Given the description of an element on the screen output the (x, y) to click on. 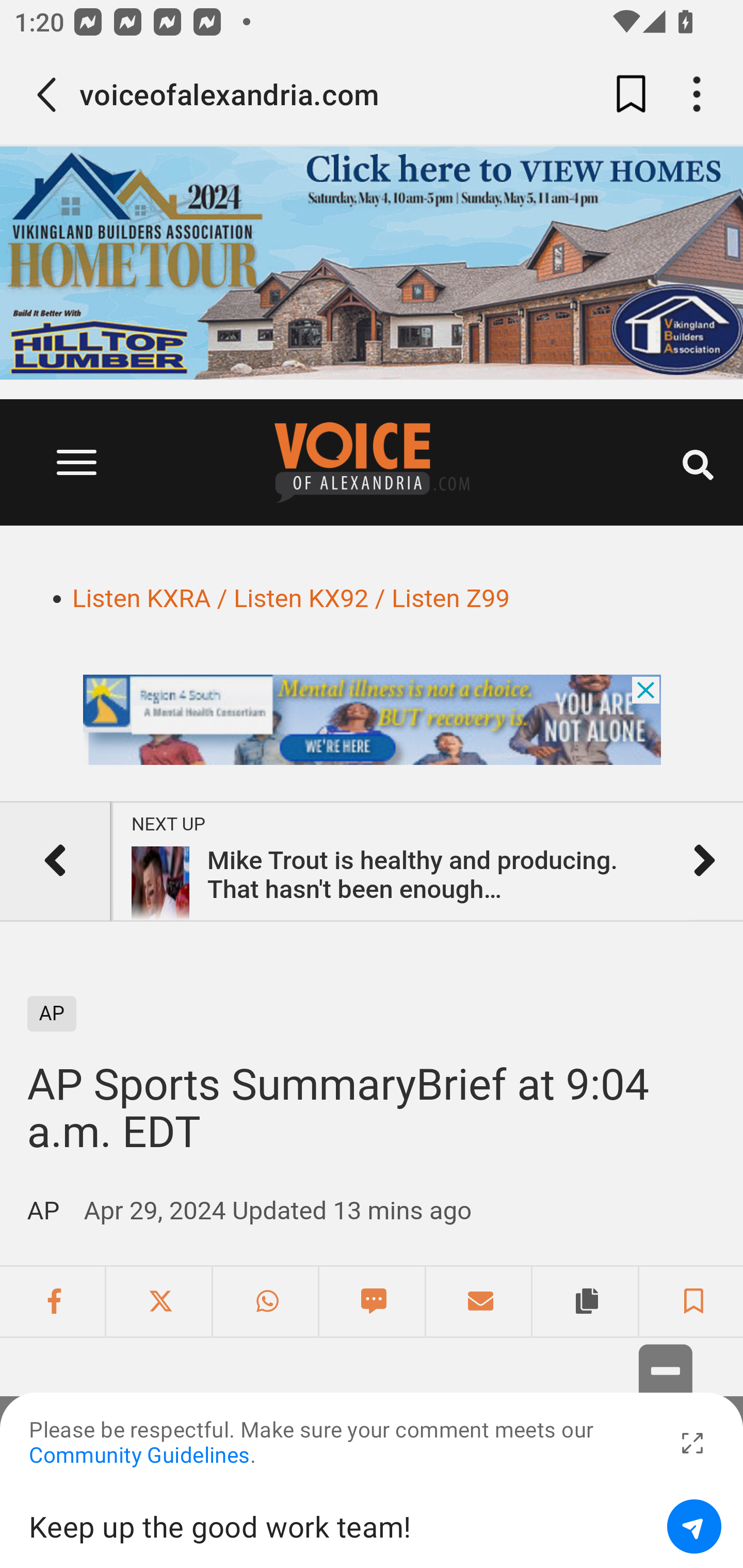
Keep up the good work team! (340, 1526)
